Given the description of an element on the screen output the (x, y) to click on. 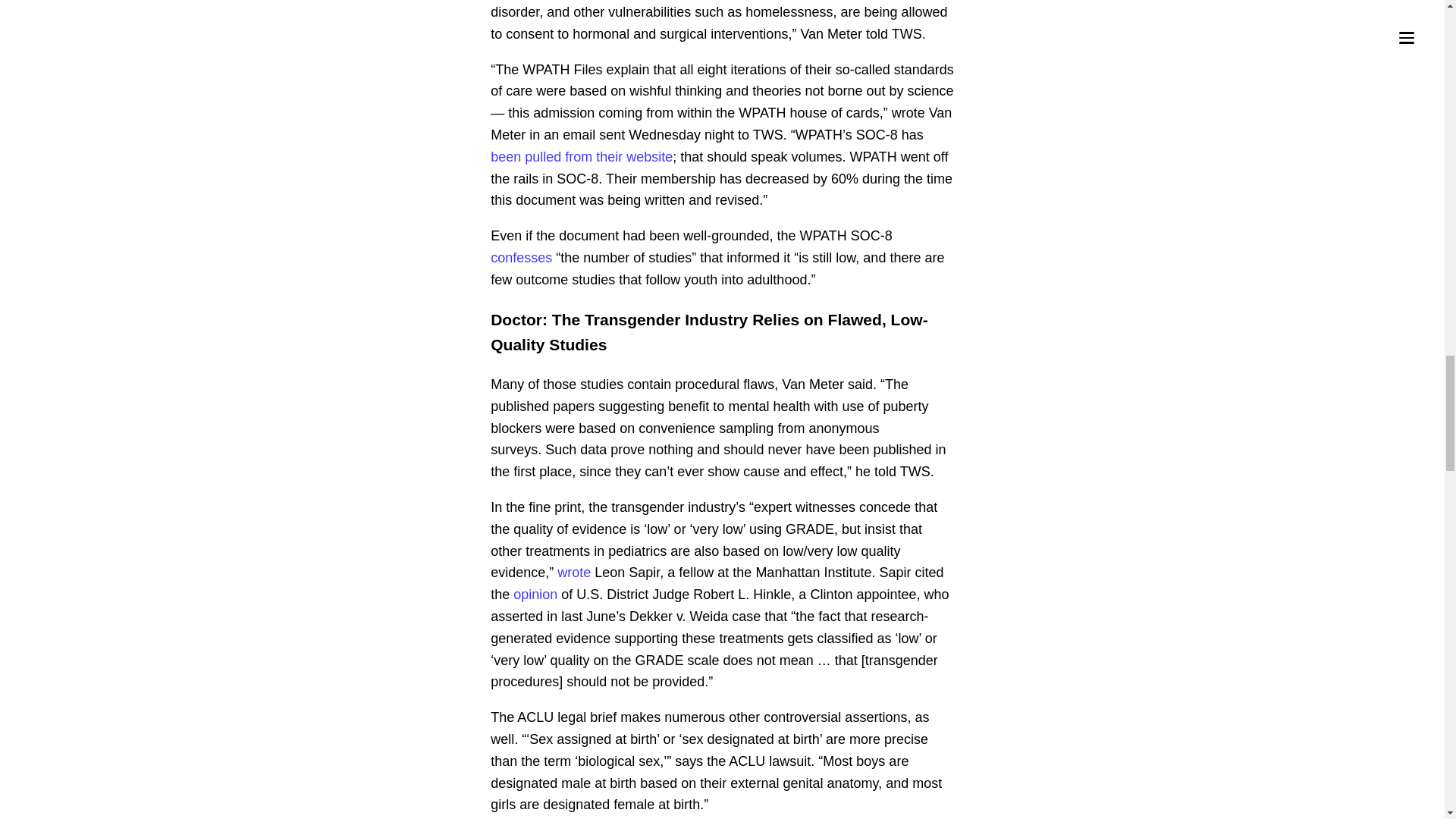
been pulled from their website (581, 156)
opinion (535, 594)
confesses (520, 257)
wrote (574, 572)
